Given the description of an element on the screen output the (x, y) to click on. 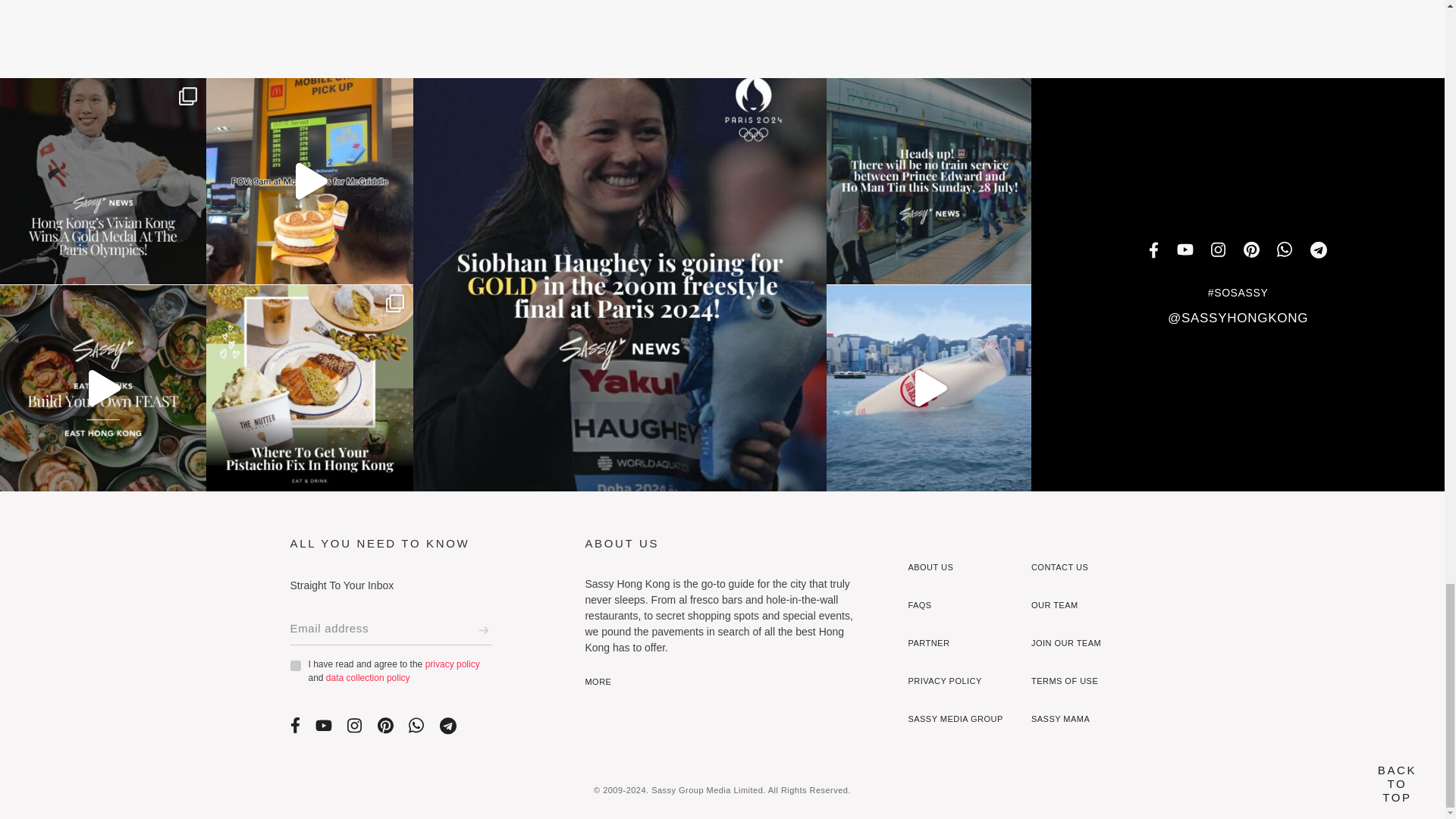
Sign Up (483, 629)
on (294, 665)
